Given the description of an element on the screen output the (x, y) to click on. 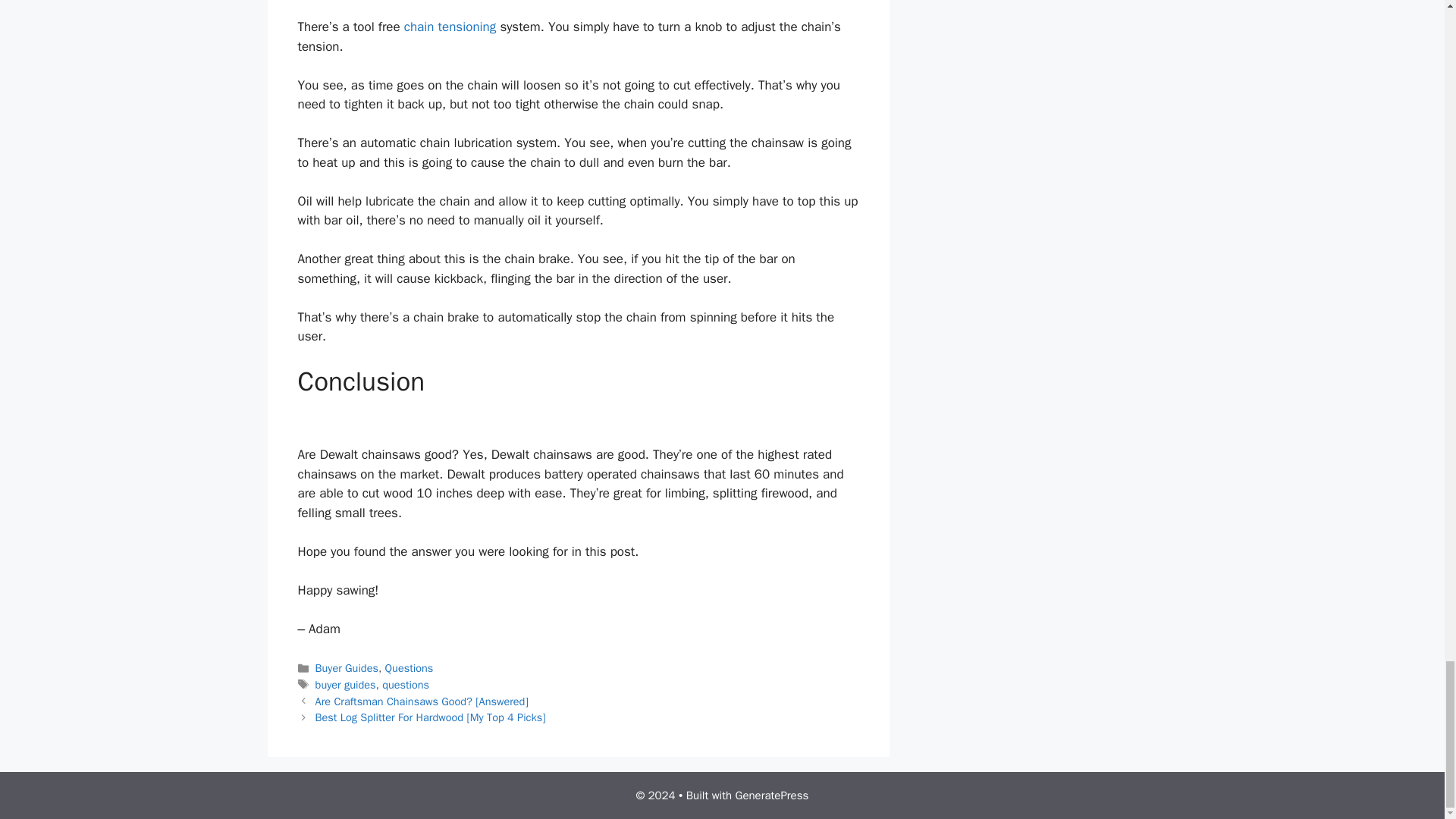
questions (405, 684)
Next (430, 716)
Questions (409, 667)
chain tensioning (450, 26)
GeneratePress (772, 795)
buyer guides (345, 684)
Previous (421, 701)
Buyer Guides (346, 667)
